Given the description of an element on the screen output the (x, y) to click on. 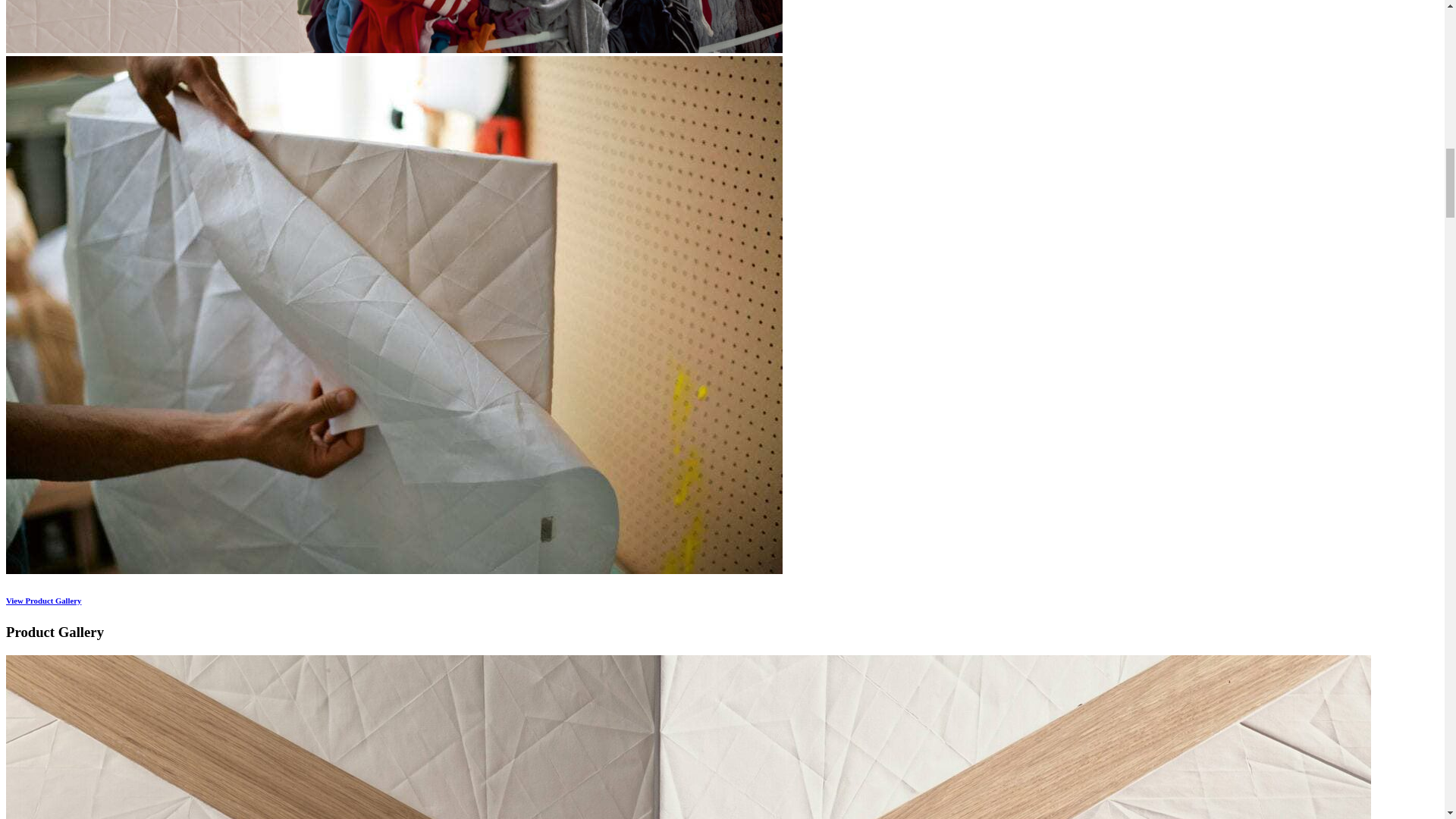
View Product Gallery (43, 600)
